Given the description of an element on the screen output the (x, y) to click on. 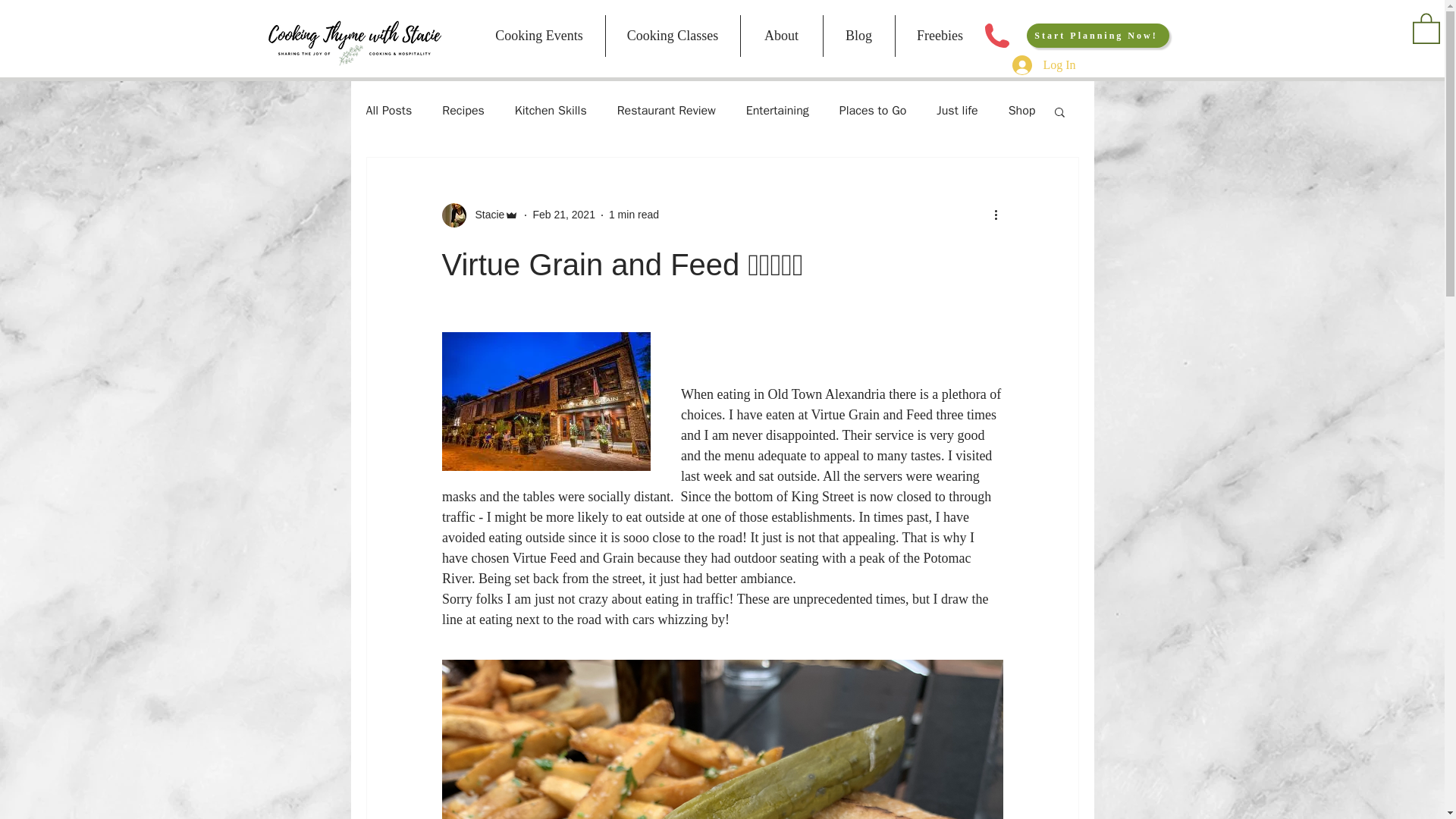
Recipes (463, 110)
Start Planning Now! (1097, 35)
Restaurant Review (666, 110)
Log In (1043, 64)
All Posts (388, 110)
Places to Go (873, 110)
Stacie (479, 215)
Blog (857, 35)
Feb 21, 2021 (563, 214)
1 min read (633, 214)
Entertaining (777, 110)
Stacie (484, 214)
Cooking Events (538, 35)
Just life (956, 110)
Shop (1022, 110)
